Given the description of an element on the screen output the (x, y) to click on. 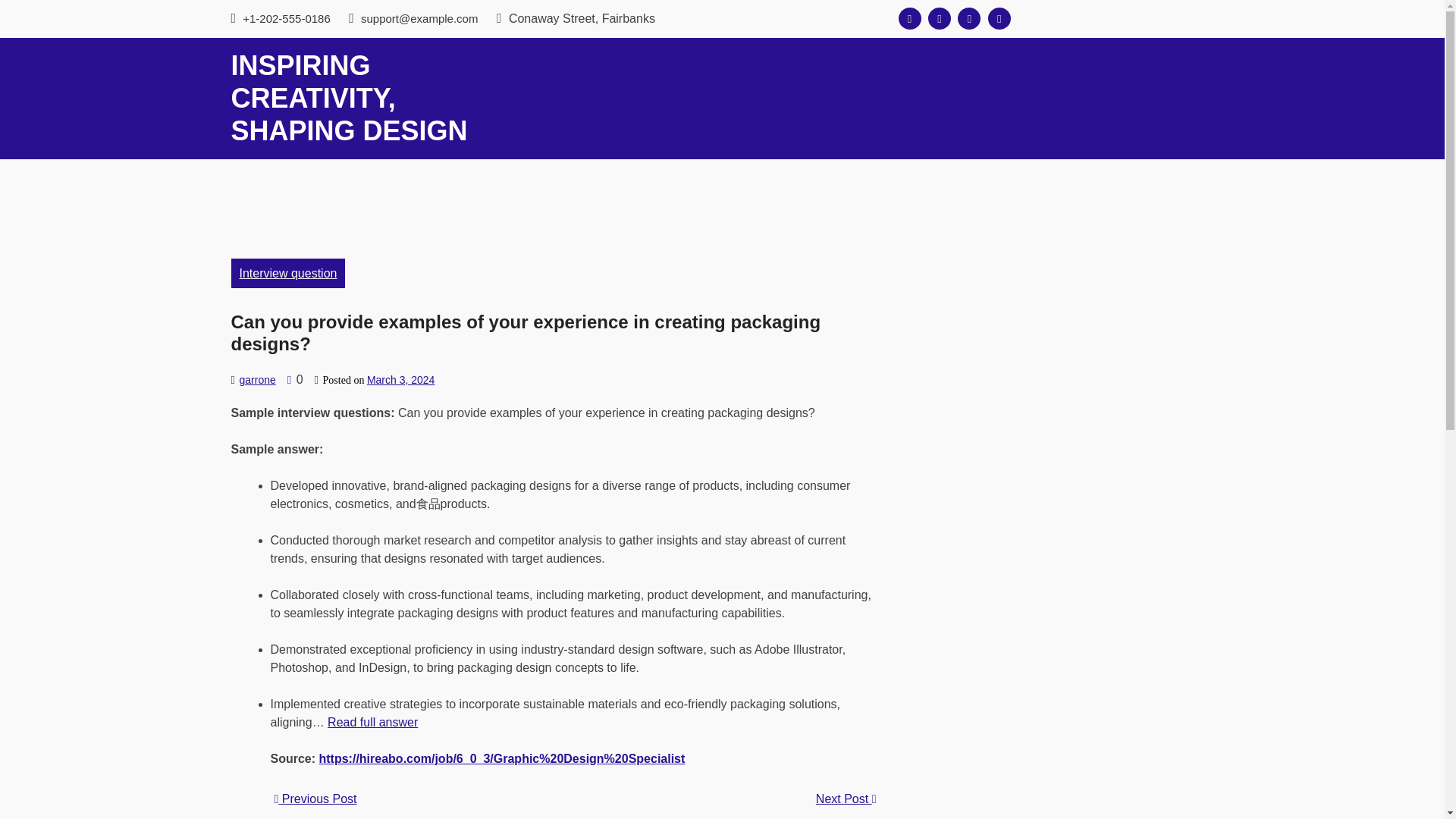
Next Post (845, 799)
INSPIRING CREATIVITY, SHAPING DESIGN (348, 97)
March 3, 2024 (400, 379)
Previous Post (315, 798)
Interview question (287, 273)
Read full answer (372, 721)
Inspiring Creativity, Shaping Design (348, 97)
garrone (256, 379)
